Given the description of an element on the screen output the (x, y) to click on. 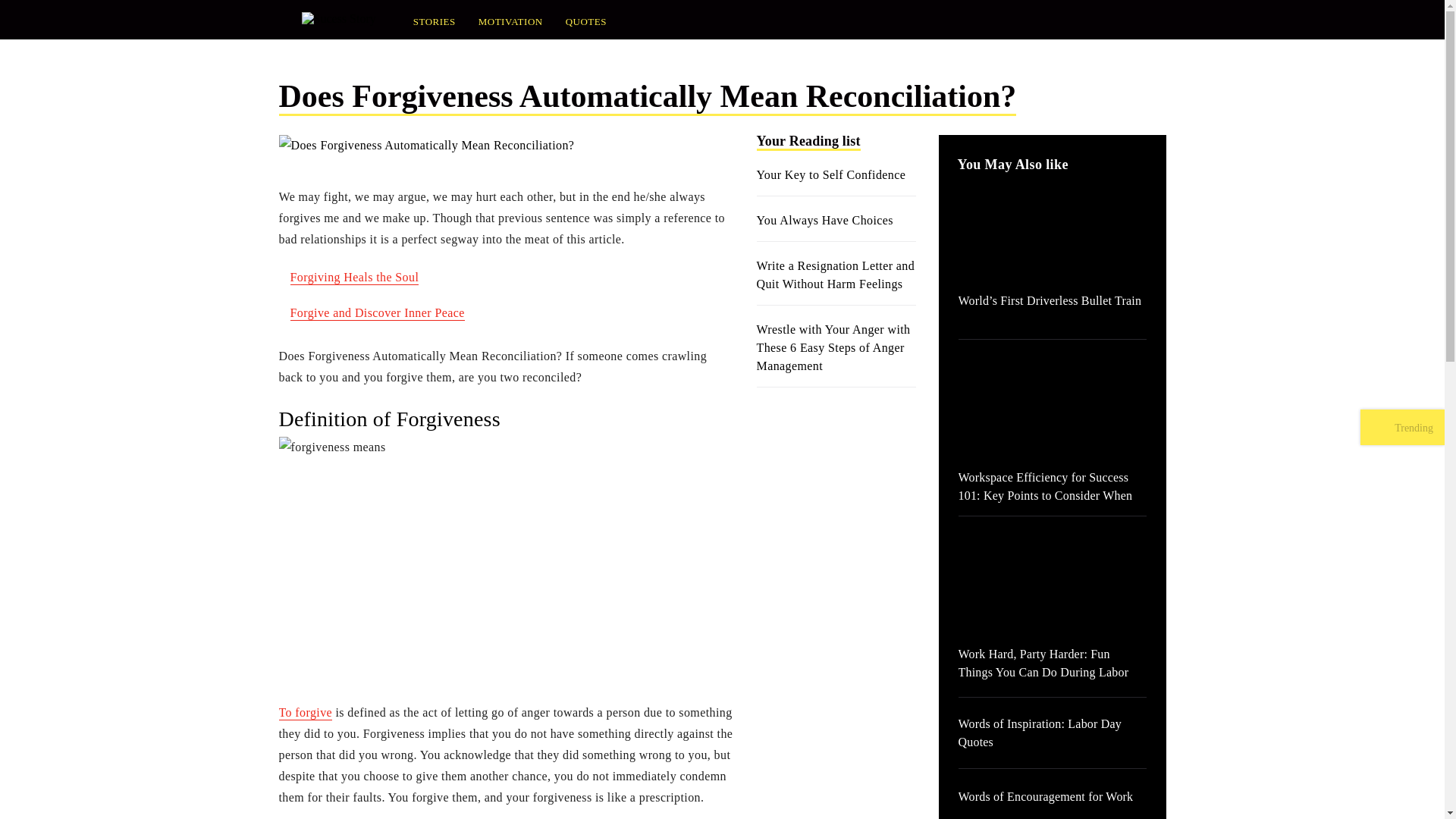
STORIES (434, 21)
QUOTES (586, 21)
MOTIVATION (511, 21)
